Given the description of an element on the screen output the (x, y) to click on. 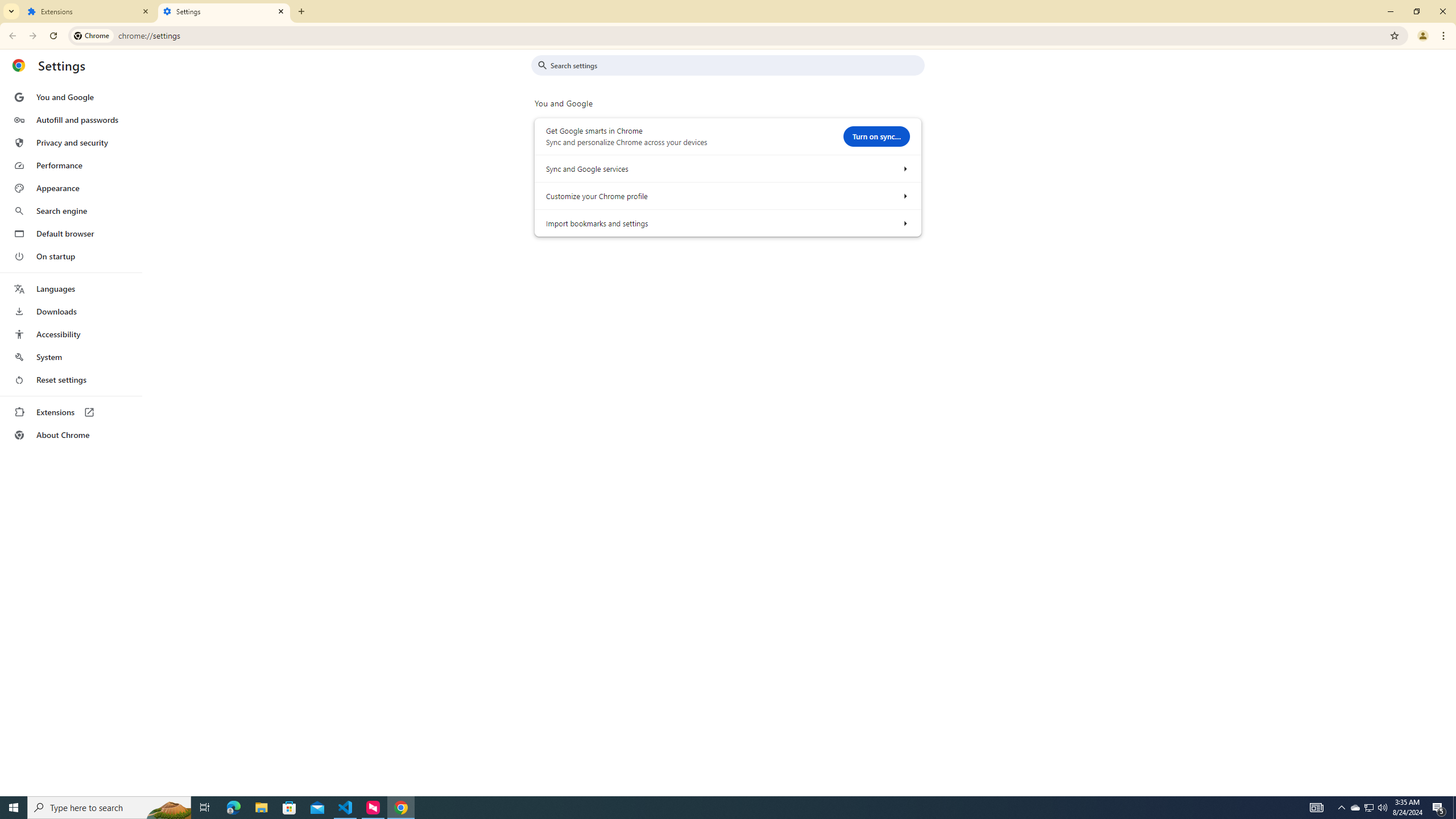
Languages (70, 288)
Accessibility (70, 333)
Search settings (735, 65)
Sync and Google services (904, 167)
Search engine (70, 210)
